Given the description of an element on the screen output the (x, y) to click on. 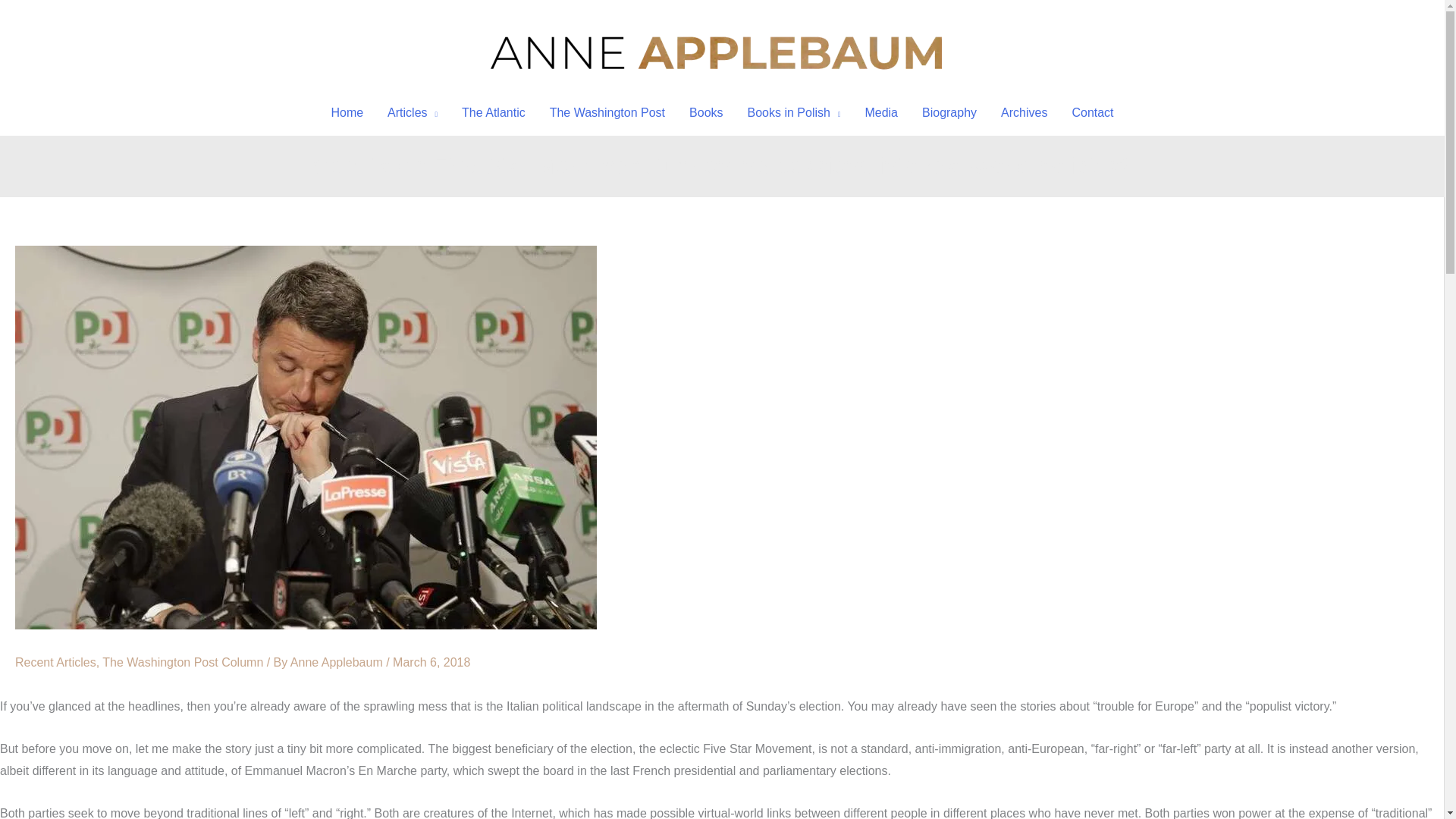
The Washington Post (607, 112)
Biography (949, 112)
Archives (1023, 112)
Articles (412, 112)
The Atlantic (493, 112)
Home (346, 112)
Books (706, 112)
Contact (1092, 112)
View all posts by Anne Applebaum (337, 662)
Media (880, 112)
